Given the description of an element on the screen output the (x, y) to click on. 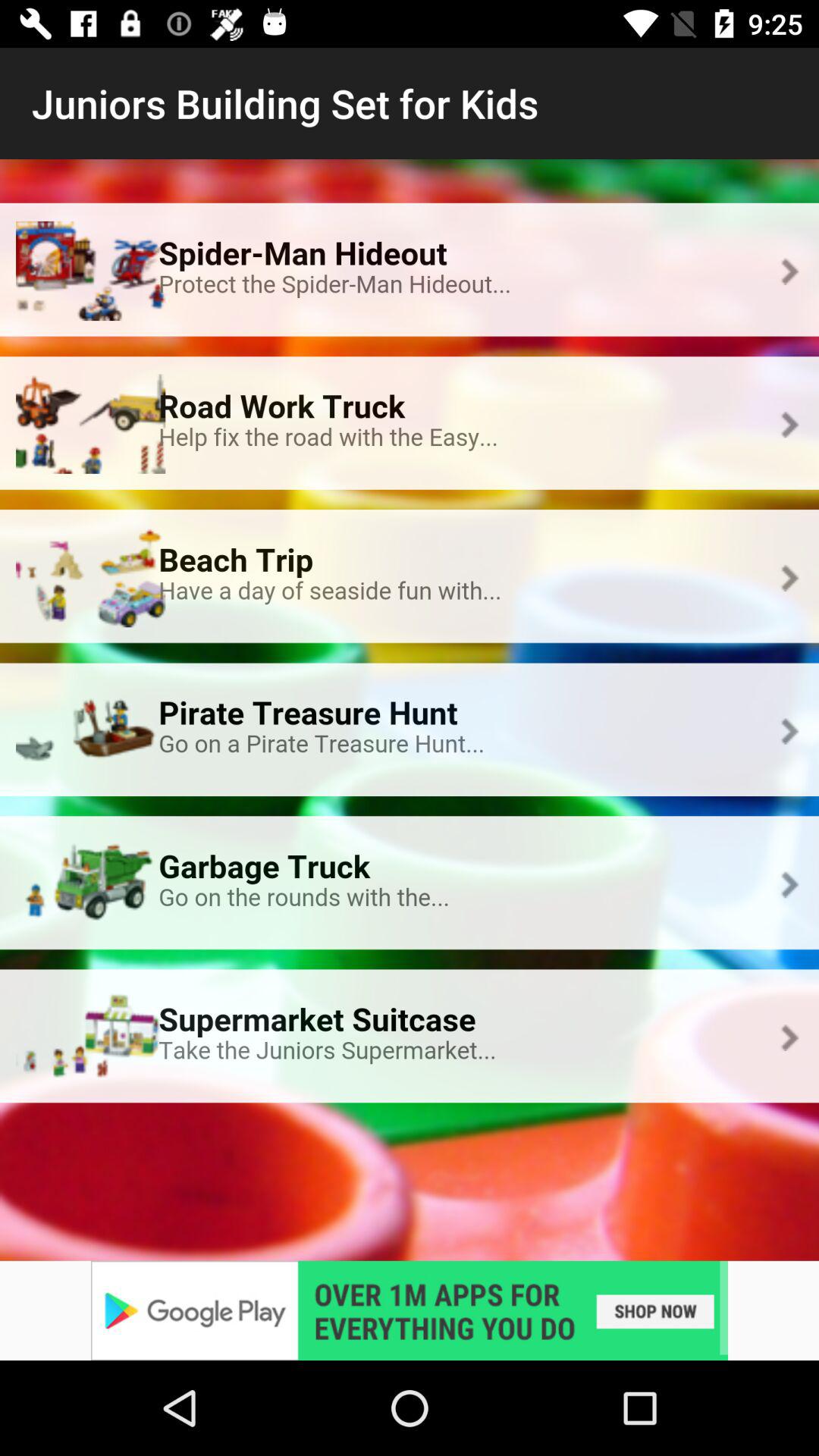
advert pop up (409, 1310)
